Given the description of an element on the screen output the (x, y) to click on. 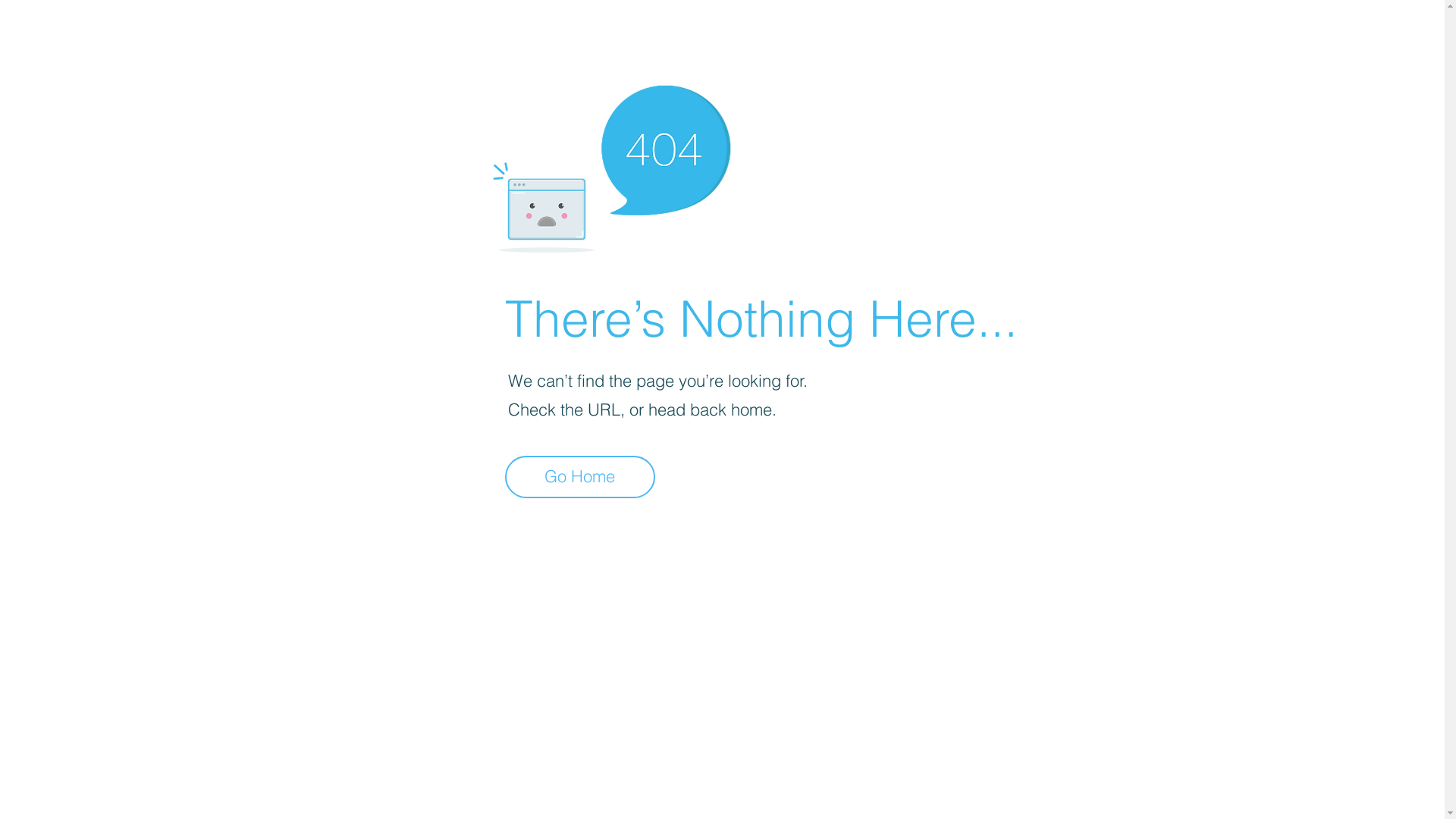
404-icon_2.png Element type: hover (610, 164)
Go Home Element type: text (580, 476)
